Given the description of an element on the screen output the (x, y) to click on. 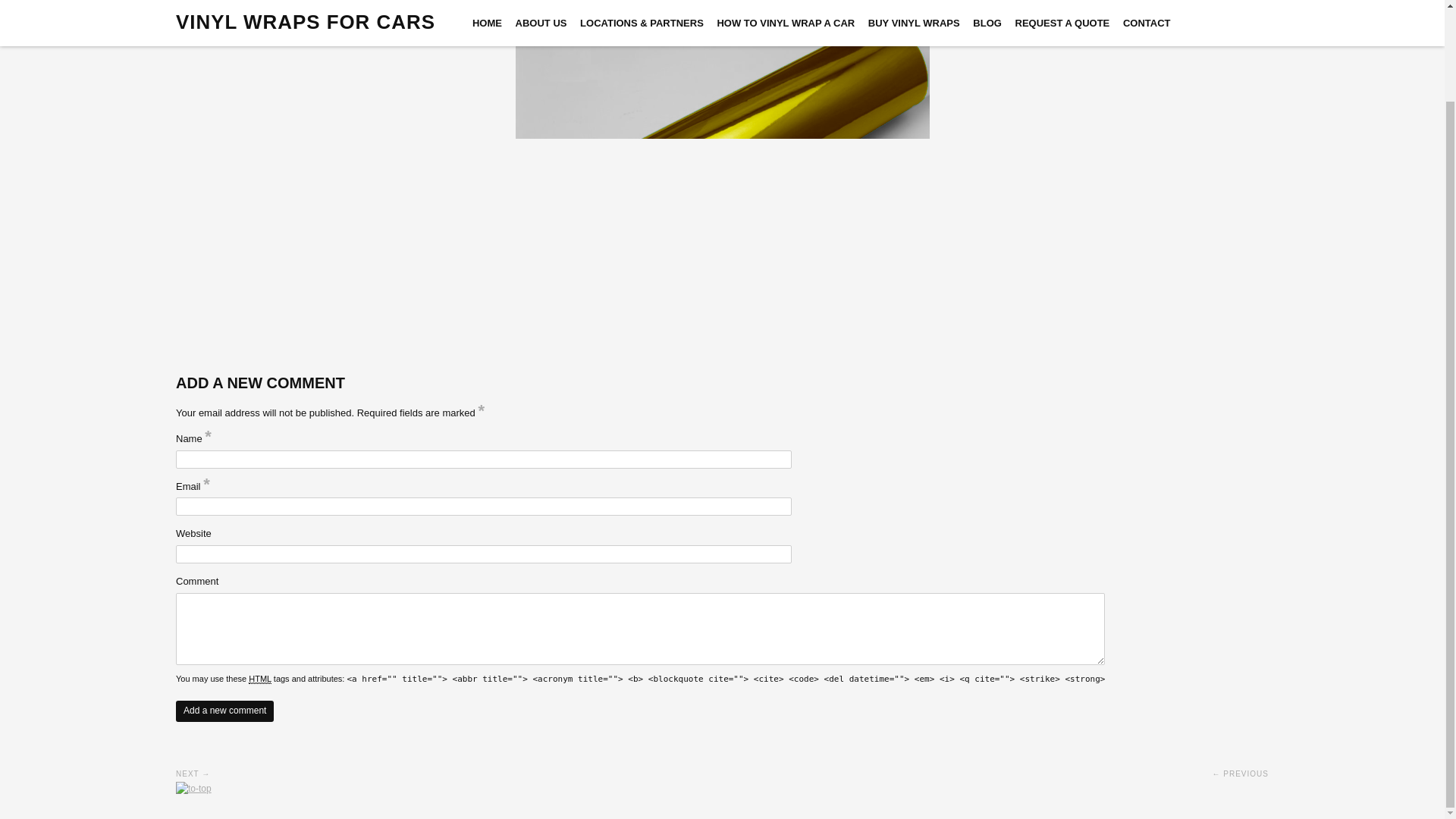
Add a new comment (224, 711)
Buy Vinyl Wrap Gloss Red (192, 773)
To Top (193, 787)
HyperText Markup Language (259, 678)
Buy Vinyl Wraps: Matte Light Blue (1240, 773)
Add a new comment (224, 711)
